Given the description of an element on the screen output the (x, y) to click on. 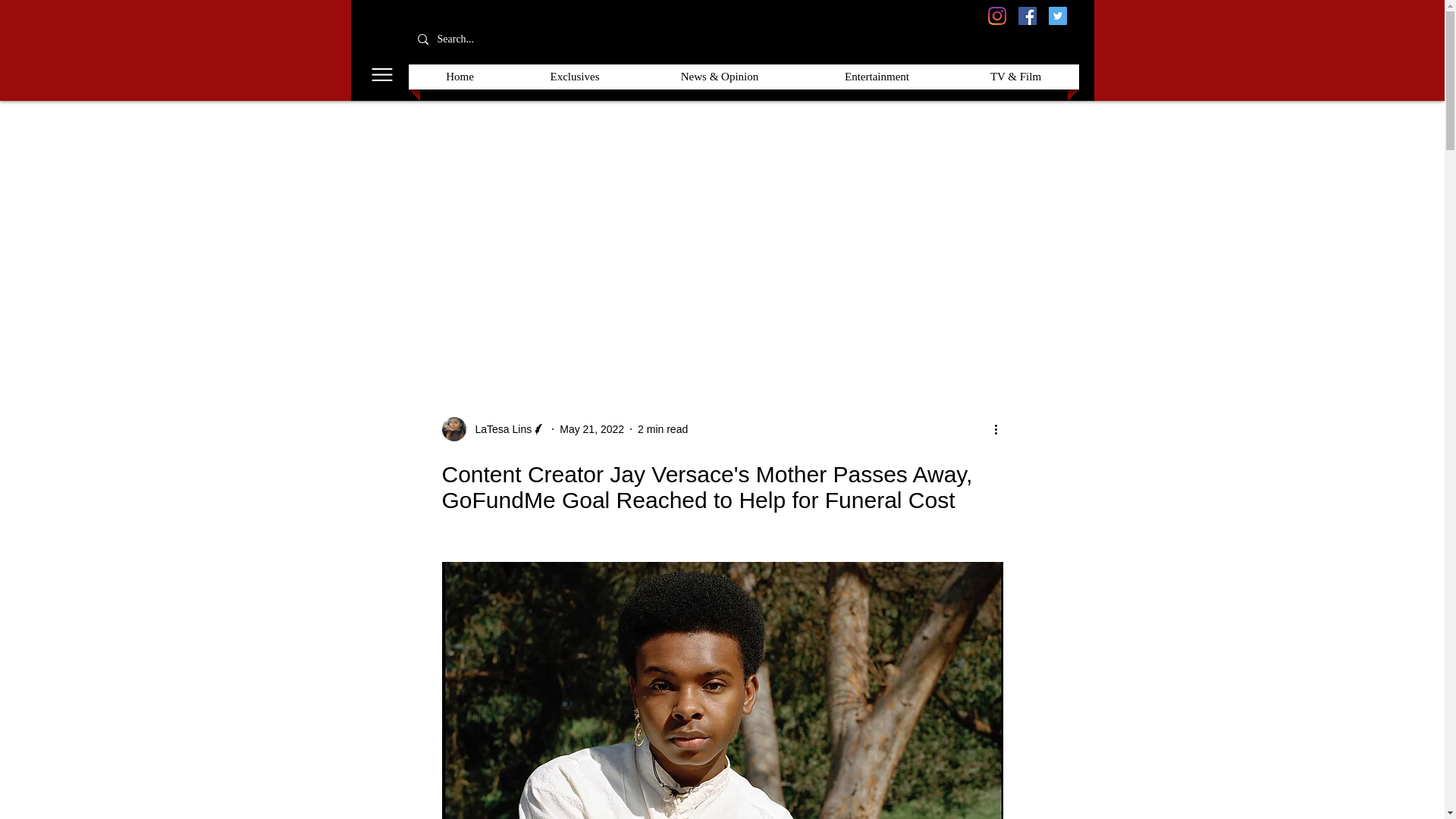
2 min read (662, 428)
Exclusives (574, 76)
Fashion (879, 325)
Exclusives (496, 325)
Recent Articles (402, 325)
LaTesa Lins (493, 428)
Entertainment (679, 325)
Lifestyle (950, 325)
LaTesa Lins (498, 429)
May 21, 2022 (591, 428)
